Given the description of an element on the screen output the (x, y) to click on. 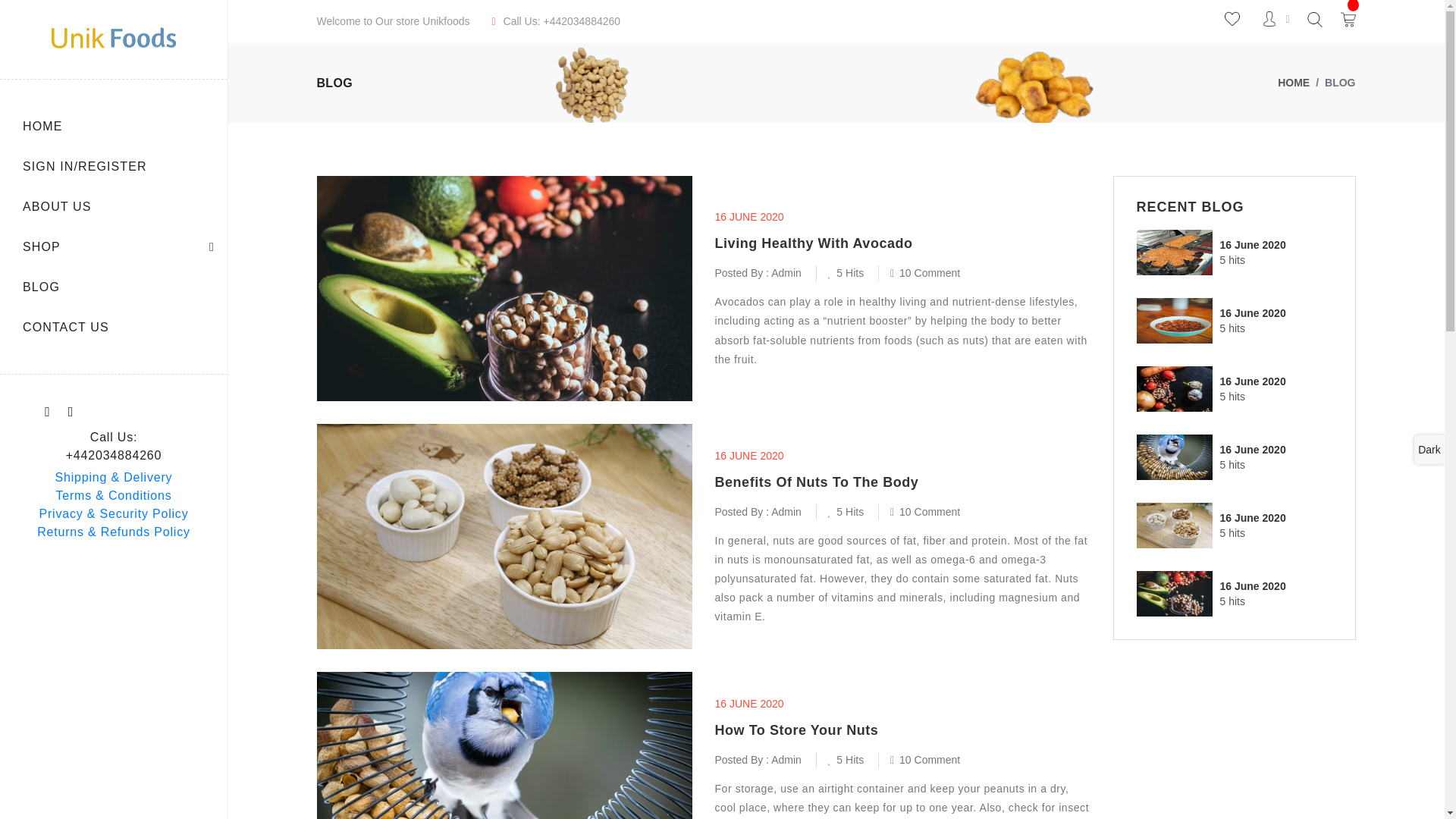
My Wishlist (1232, 18)
SHOP (125, 250)
ABOUT US (125, 210)
BLOG (125, 291)
HOME (125, 129)
CONTACT US (125, 331)
